Given the description of an element on the screen output the (x, y) to click on. 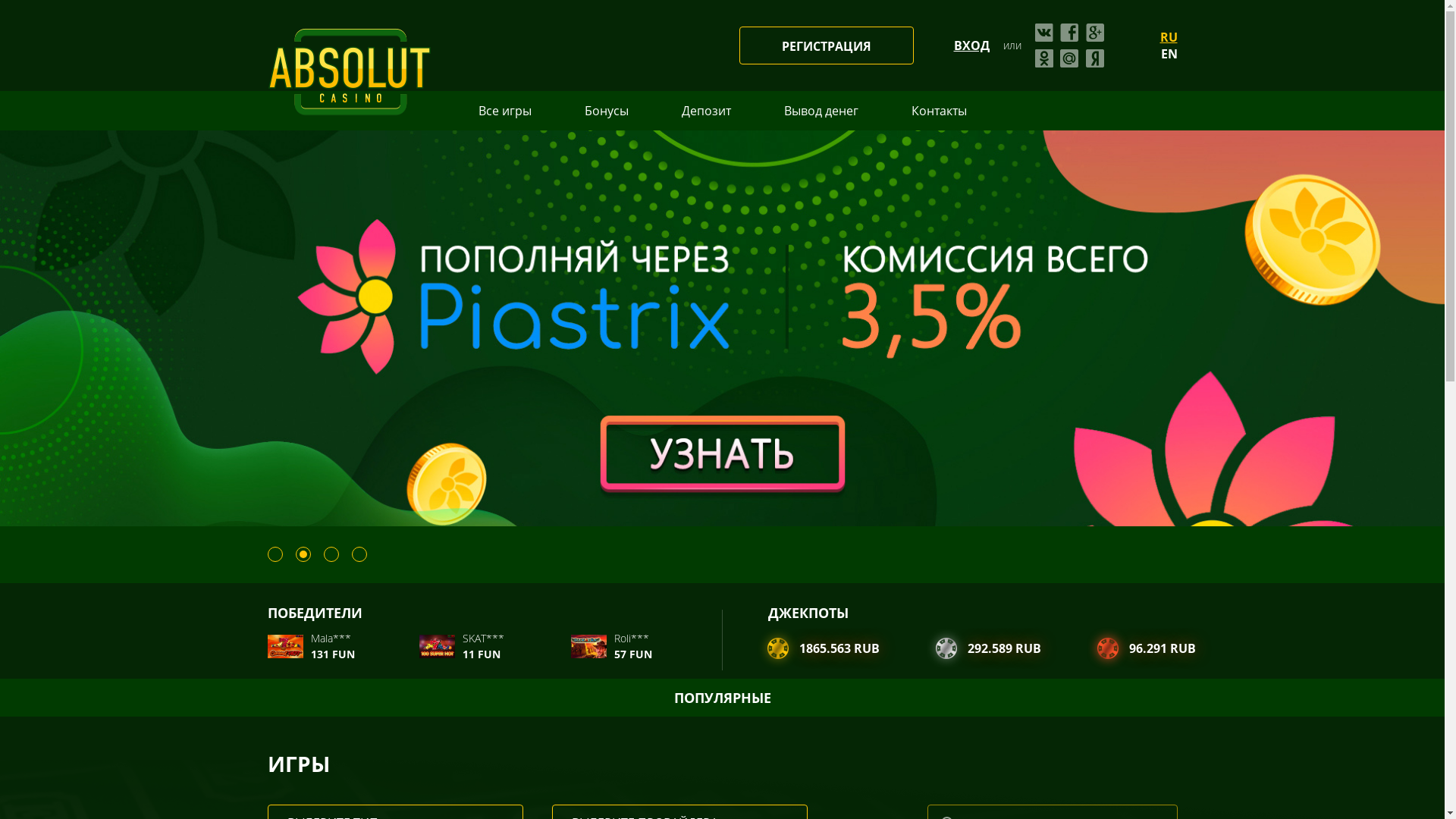
EN Element type: text (1168, 53)
RU Element type: text (1168, 36)
